Given the description of an element on the screen output the (x, y) to click on. 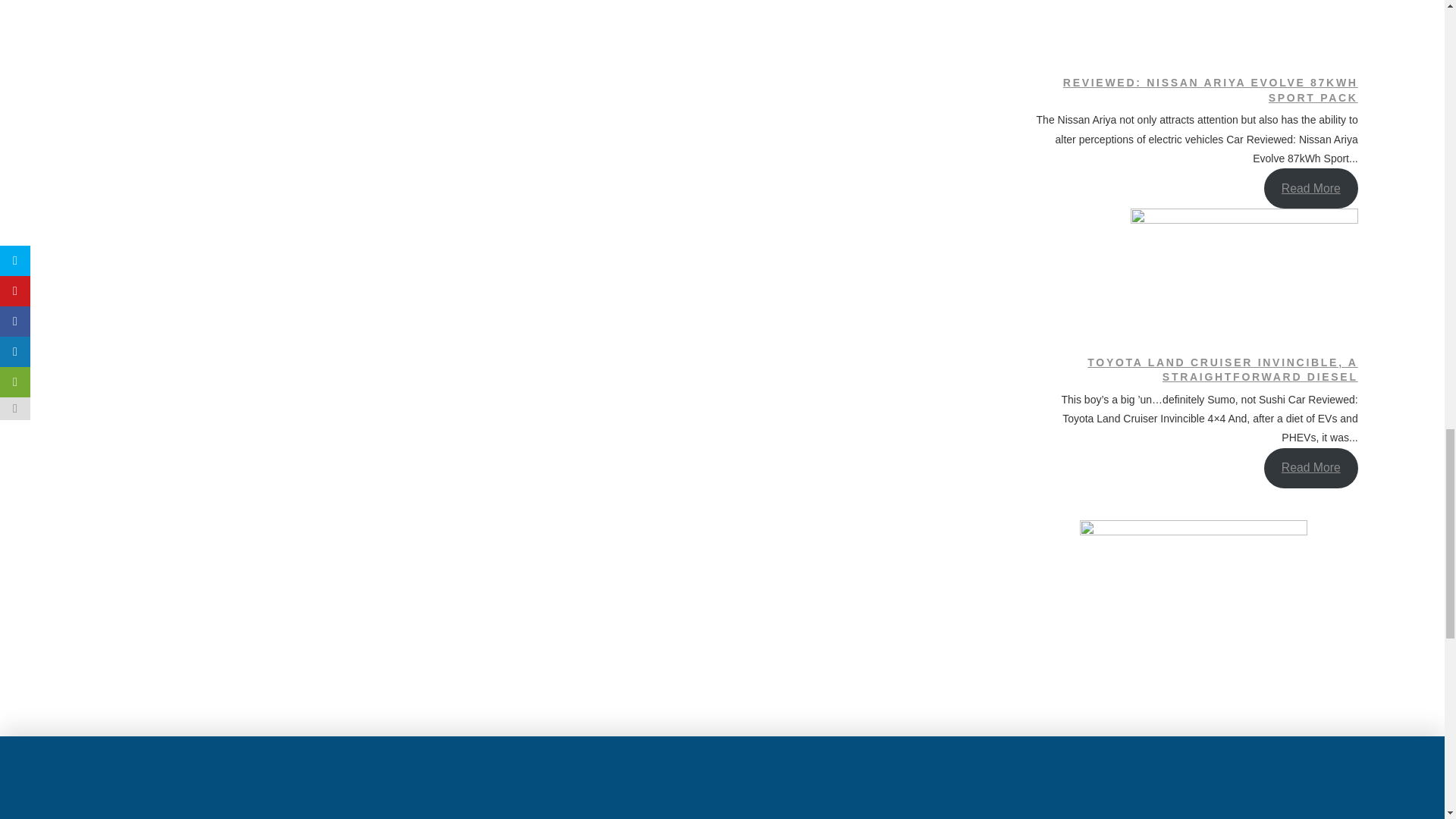
Read More (1310, 188)
TOYOTA LAND CRUISER INVINCIBLE, A STRAIGHTFORWARD DIESEL (1221, 370)
REVIEWED: NISSAN ARIYA EVOLVE 87KWH SPORT PACK (1210, 90)
Read More (1310, 467)
